Given the description of an element on the screen output the (x, y) to click on. 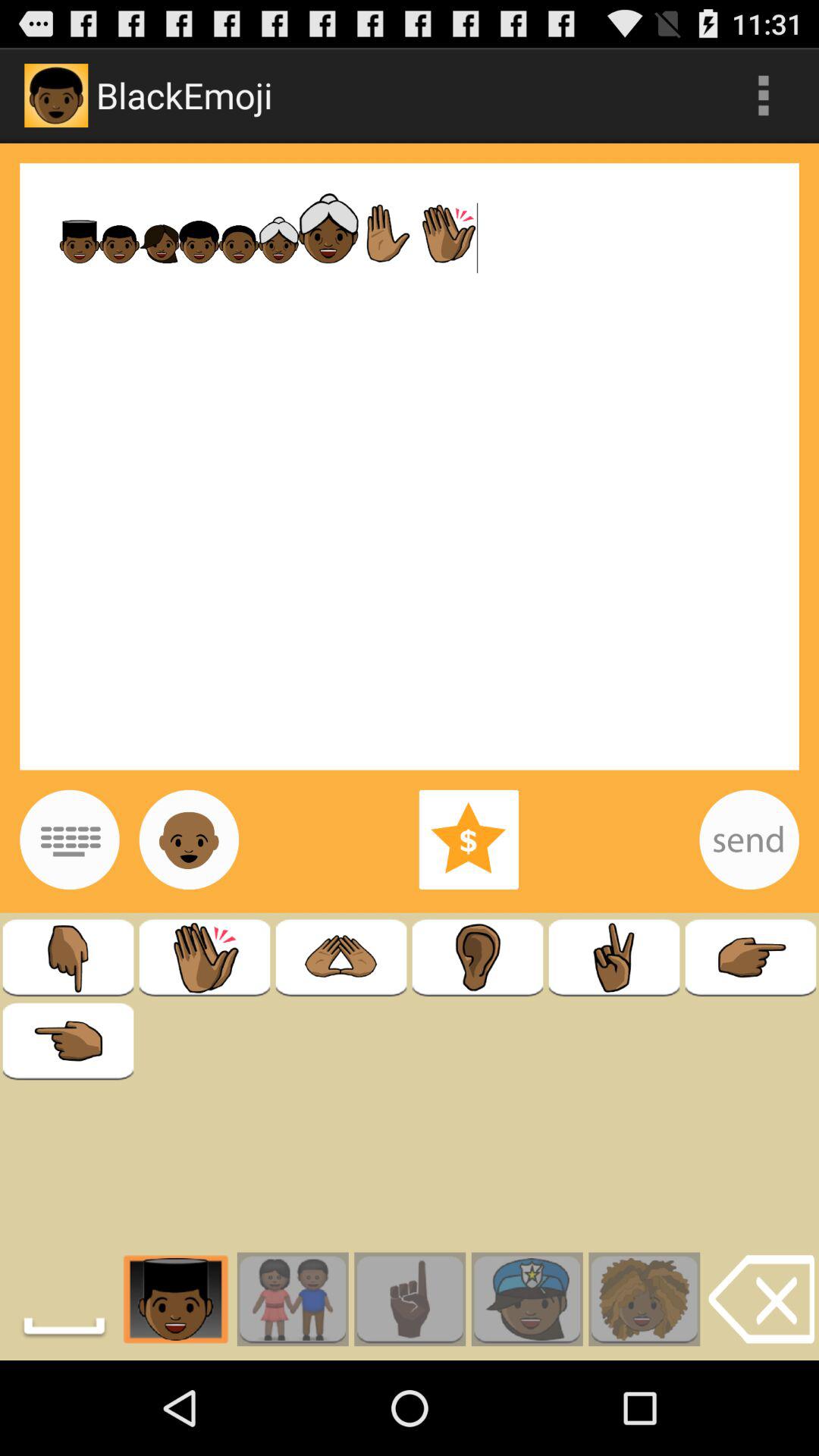
image option (188, 839)
